Given the description of an element on the screen output the (x, y) to click on. 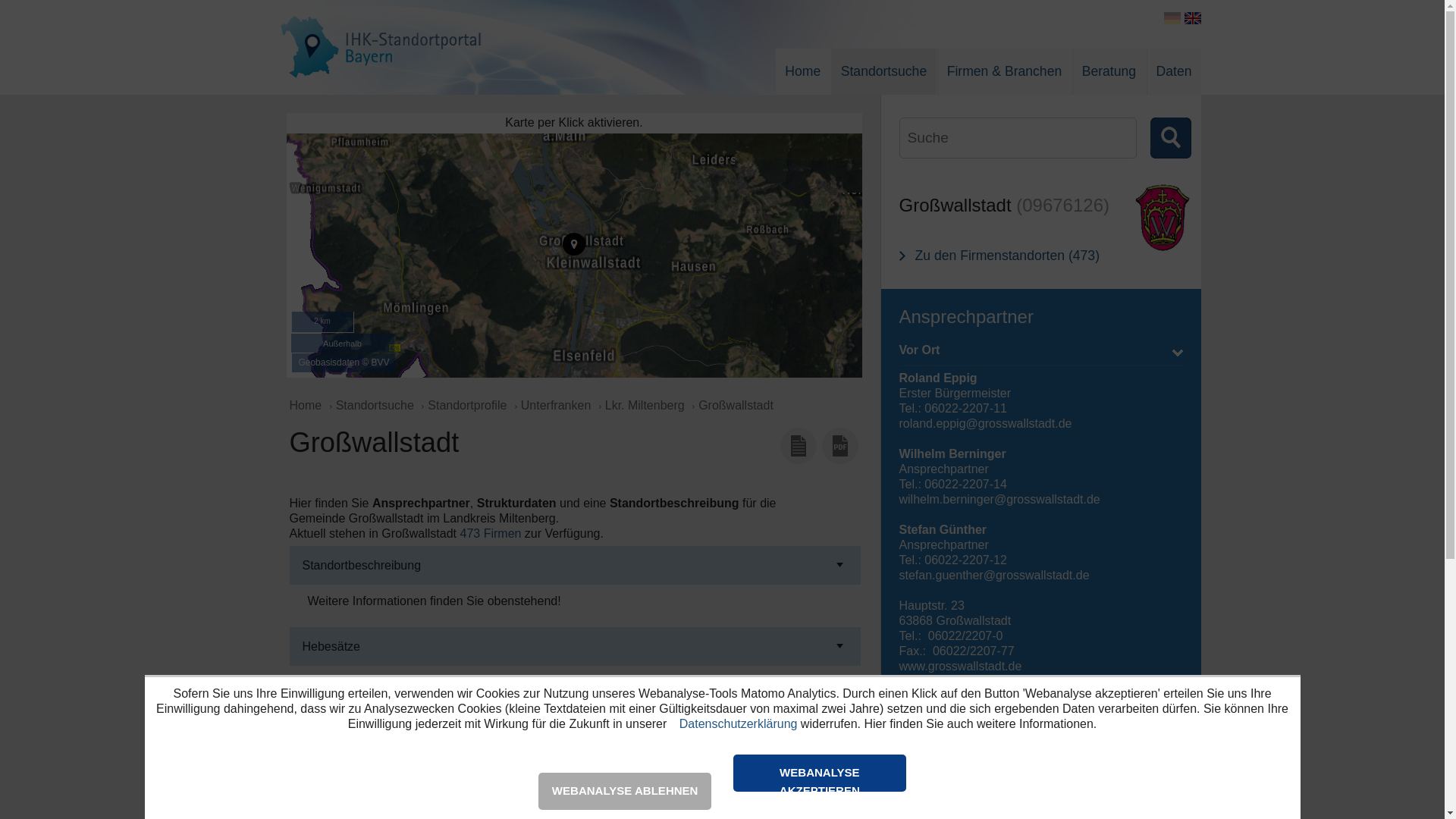
Vor Ort Element type: text (1041, 353)
IHK Aschaffenburg Element type: text (1041, 715)
Daten Element type: text (1174, 77)
Home Element type: text (802, 77)
WEBANALYSE AKZEPTIEREN Element type: text (819, 772)
Lkr. Miltenberg Element type: text (644, 404)
Wechsel zur deutschen Website Element type: hover (1172, 18)
IHK-Standortportal Bayern Element type: hover (380, 9)
roland.eppig@grosswallstadt.de Element type: text (985, 423)
stefan.guenther@grosswallstadt.de Element type: text (994, 574)
Standortsuche Element type: text (373, 404)
Standortsuche Element type: text (883, 77)
Standortprofile Element type: text (466, 404)
www.grosswallstadt.de Element type: text (960, 665)
Zu den Firmenstandorten (473) Element type: text (999, 256)
Firmen & Branchen Element type: text (1004, 77)
Unterfranken Element type: text (555, 404)
  Element type: text (1140, 137)
wilhelm.berninger@grosswallstadt.de Element type: text (999, 498)
WEBANALYSE ABLEHNEN Element type: text (624, 790)
Beratung Element type: text (1109, 77)
Weitere Ansprechpartner Element type: text (1041, 745)
Home Element type: text (307, 404)
473 Firmen Element type: text (489, 533)
Wechsel zur englischen Website  Element type: hover (1192, 18)
info@grosswallstadt.de Element type: text (962, 680)
Als PDF speichern Element type: hover (840, 445)
